Given the description of an element on the screen output the (x, y) to click on. 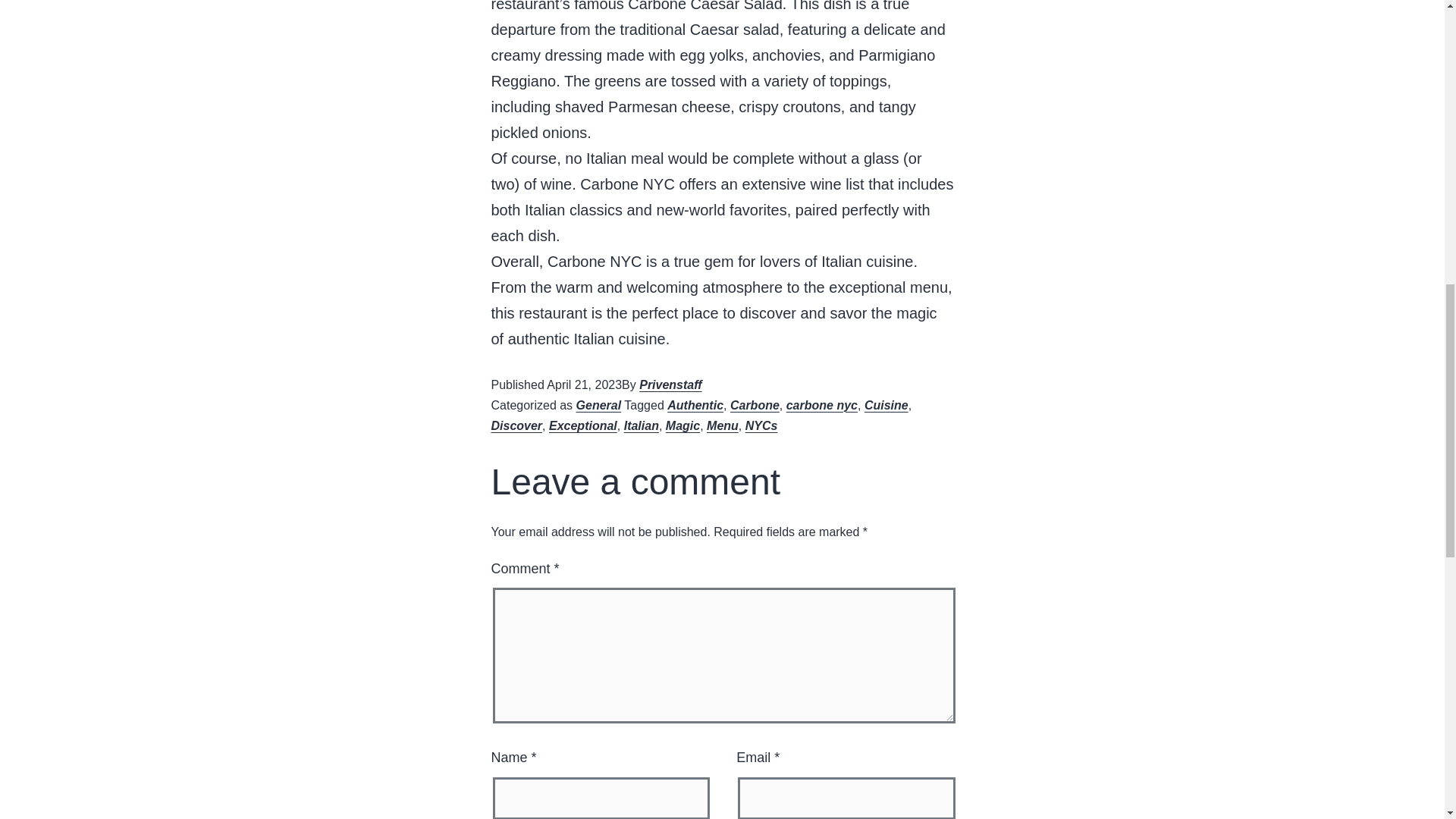
Authentic (694, 404)
Magic (682, 425)
General (598, 404)
Exceptional (582, 425)
Italian (641, 425)
Discover (517, 425)
Menu (722, 425)
Cuisine (886, 404)
Privenstaff (670, 384)
Carbone (754, 404)
carbone nyc (821, 404)
NYCs (761, 425)
